Given the description of an element on the screen output the (x, y) to click on. 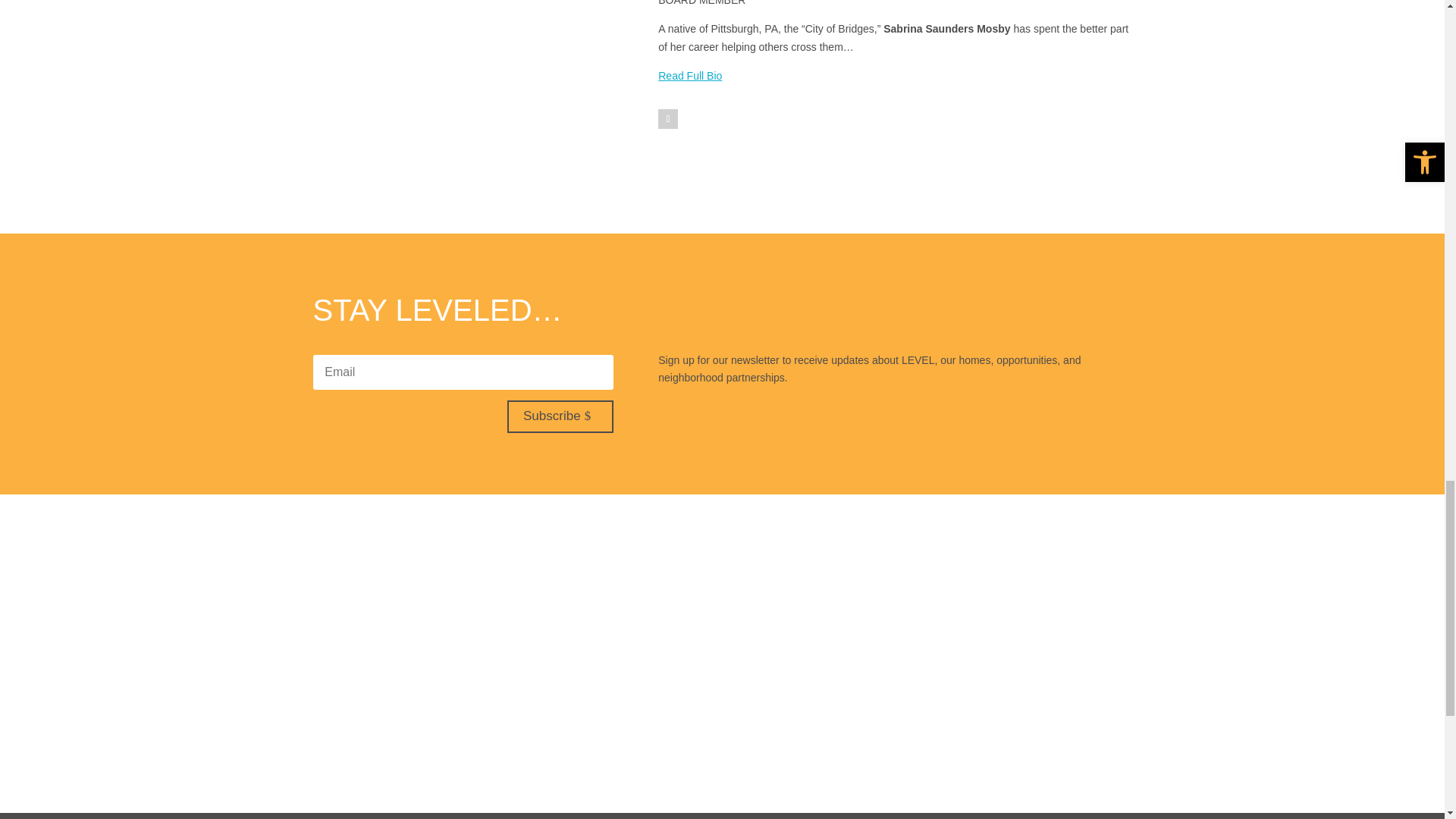
START YOUR OWN PATH. (721, 619)
Read Full Bio (690, 75)
Get Started (741, 702)
Follow on LinkedIn (668, 118)
sabrina (517, 79)
Subscribe (559, 416)
